Given the description of an element on the screen output the (x, y) to click on. 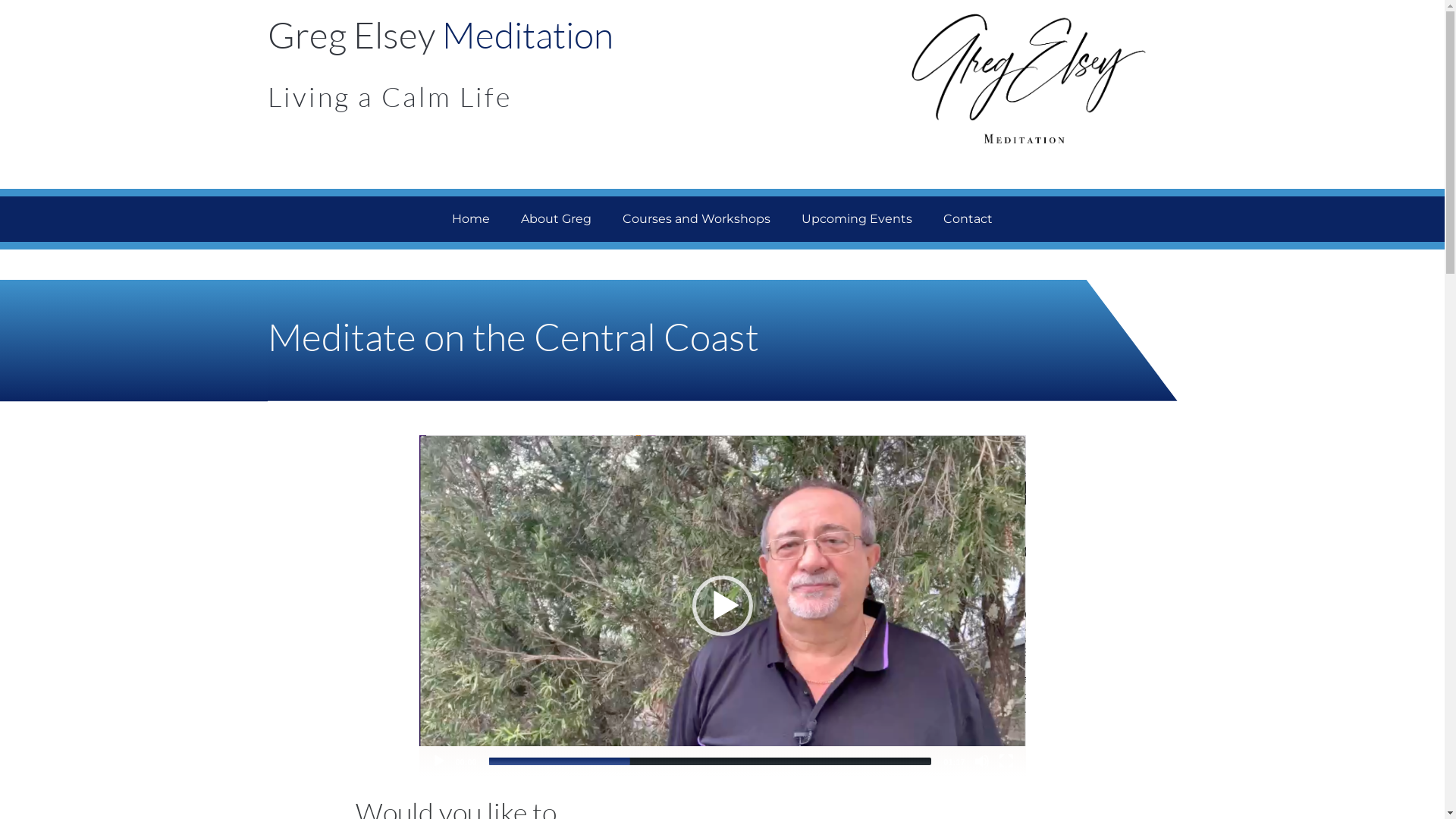
About Greg Element type: text (555, 218)
Upcoming Events Element type: text (856, 218)
Mute Element type: hover (980, 760)
Play Element type: hover (437, 760)
Fullscreen Element type: hover (1005, 760)
Contact Element type: text (967, 218)
Home Element type: text (470, 218)
Courses and Workshops Element type: text (696, 218)
